Given the description of an element on the screen output the (x, y) to click on. 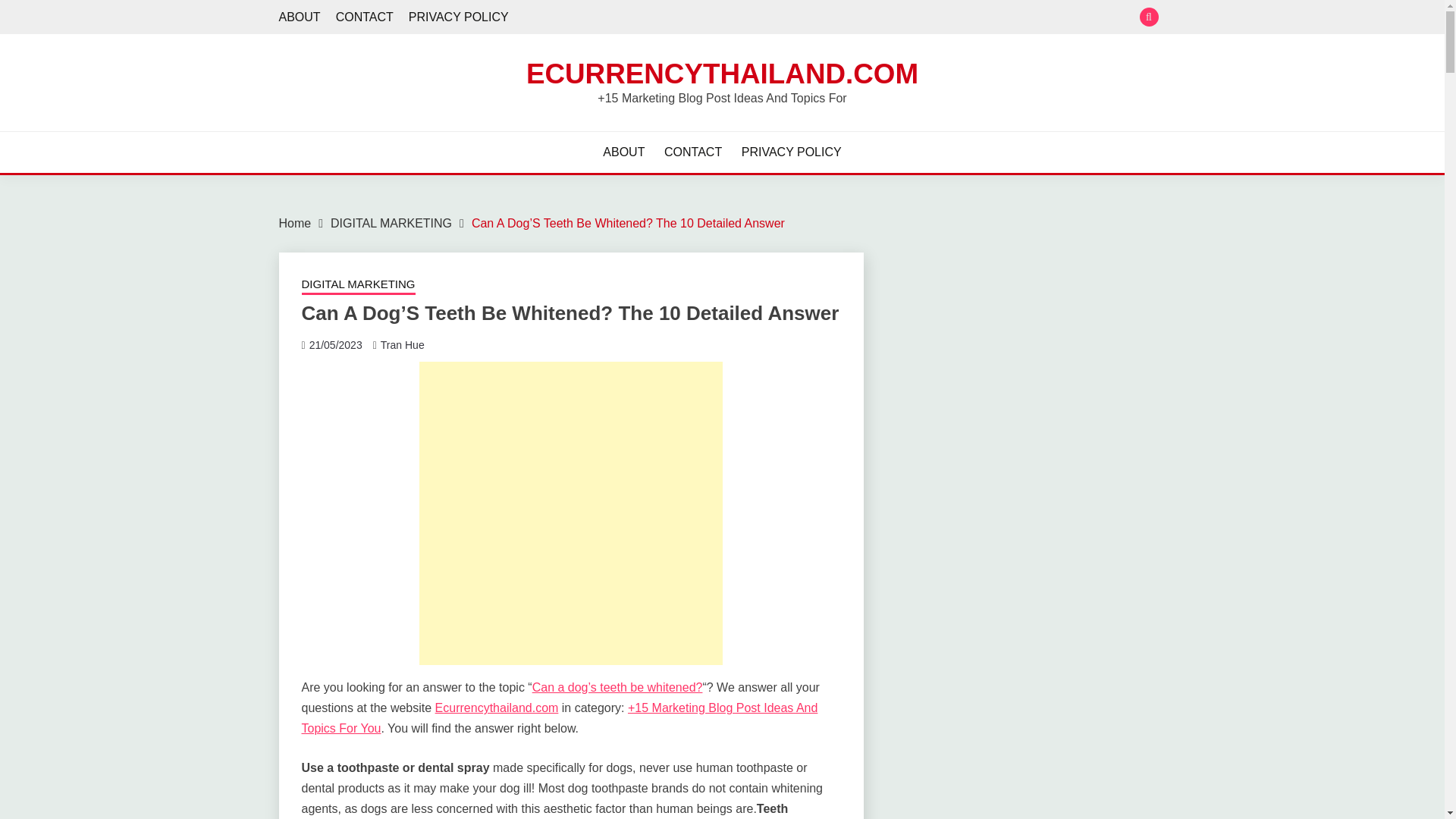
PRIVACY POLICY (458, 16)
DIGITAL MARKETING (357, 285)
PRIVACY POLICY (791, 152)
DIGITAL MARKETING (390, 223)
Ecurrencythailand.com (497, 707)
ECURRENCYTHAILAND.COM (721, 73)
CONTACT (692, 152)
Home (295, 223)
Tran Hue (402, 345)
Search (832, 18)
